Given the description of an element on the screen output the (x, y) to click on. 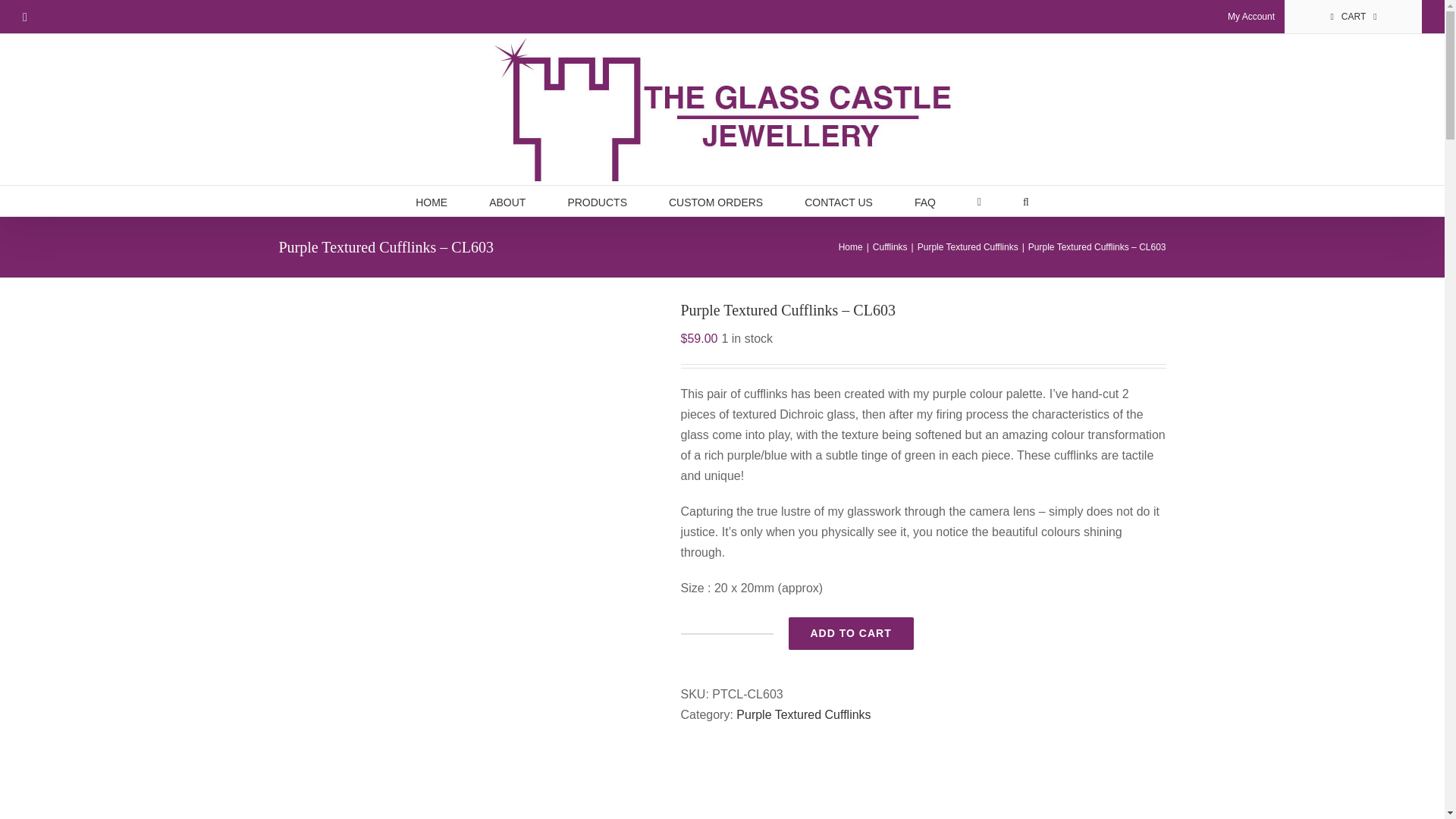
PRODUCTS (597, 200)
ABOUT (507, 200)
Log In (1237, 169)
My Account (1250, 16)
HOME (430, 200)
CART (1353, 16)
